Given the description of an element on the screen output the (x, y) to click on. 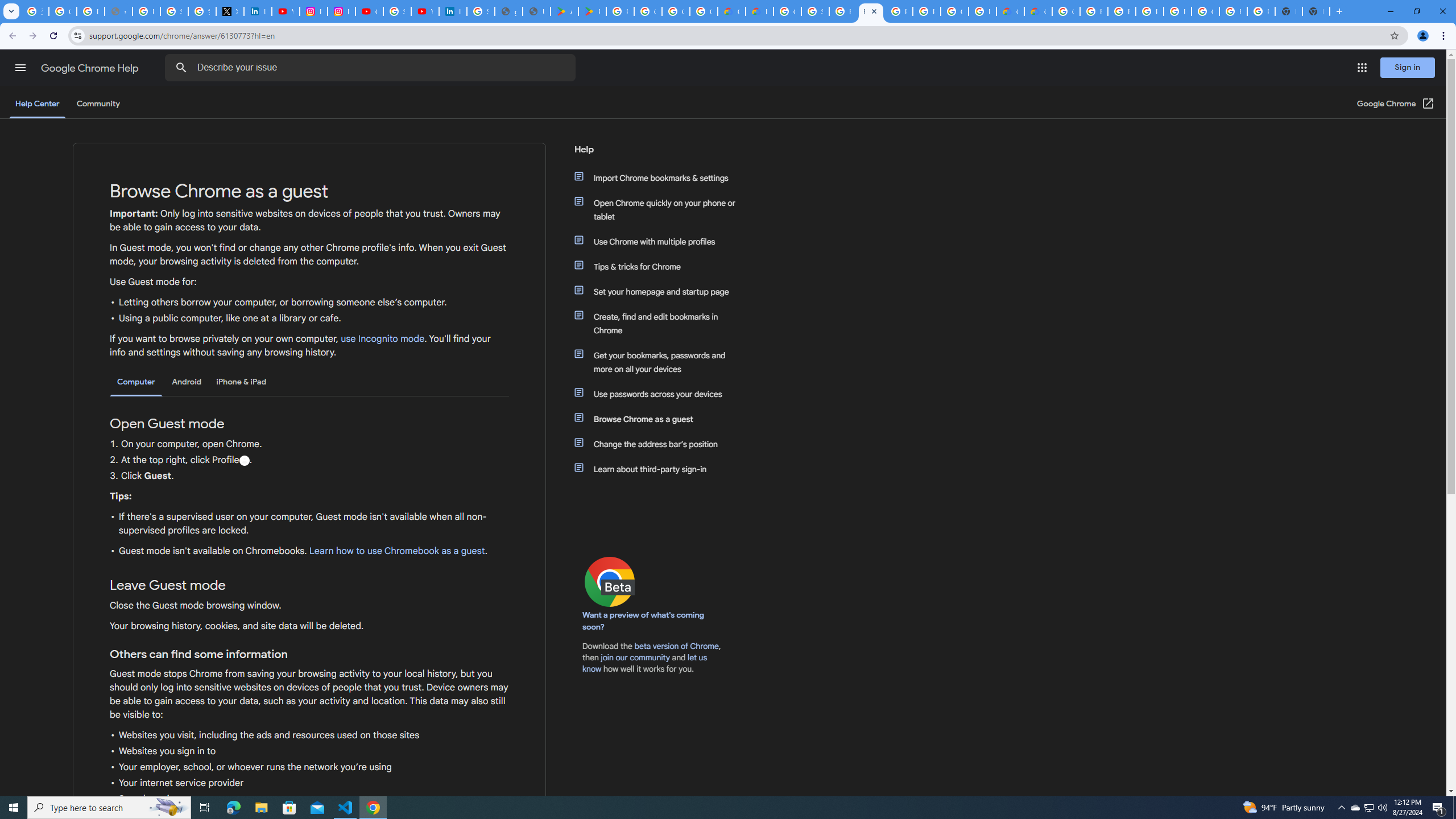
Google Cloud Estimate Summary (1038, 11)
Browse Chrome as a guest - Computer - Google Chrome Help (870, 11)
Set your homepage and startup page (661, 291)
Want a preview of what's coming soon? (643, 621)
New Tab (1316, 11)
Google Cloud Platform (1065, 11)
support.google.com - Network error (118, 11)
Open Chrome quickly on your phone or tablet (661, 209)
X (229, 11)
User Details (536, 11)
Search Help Center (181, 67)
YouTube Content Monetization Policies - How YouTube Works (285, 11)
